Given the description of an element on the screen output the (x, y) to click on. 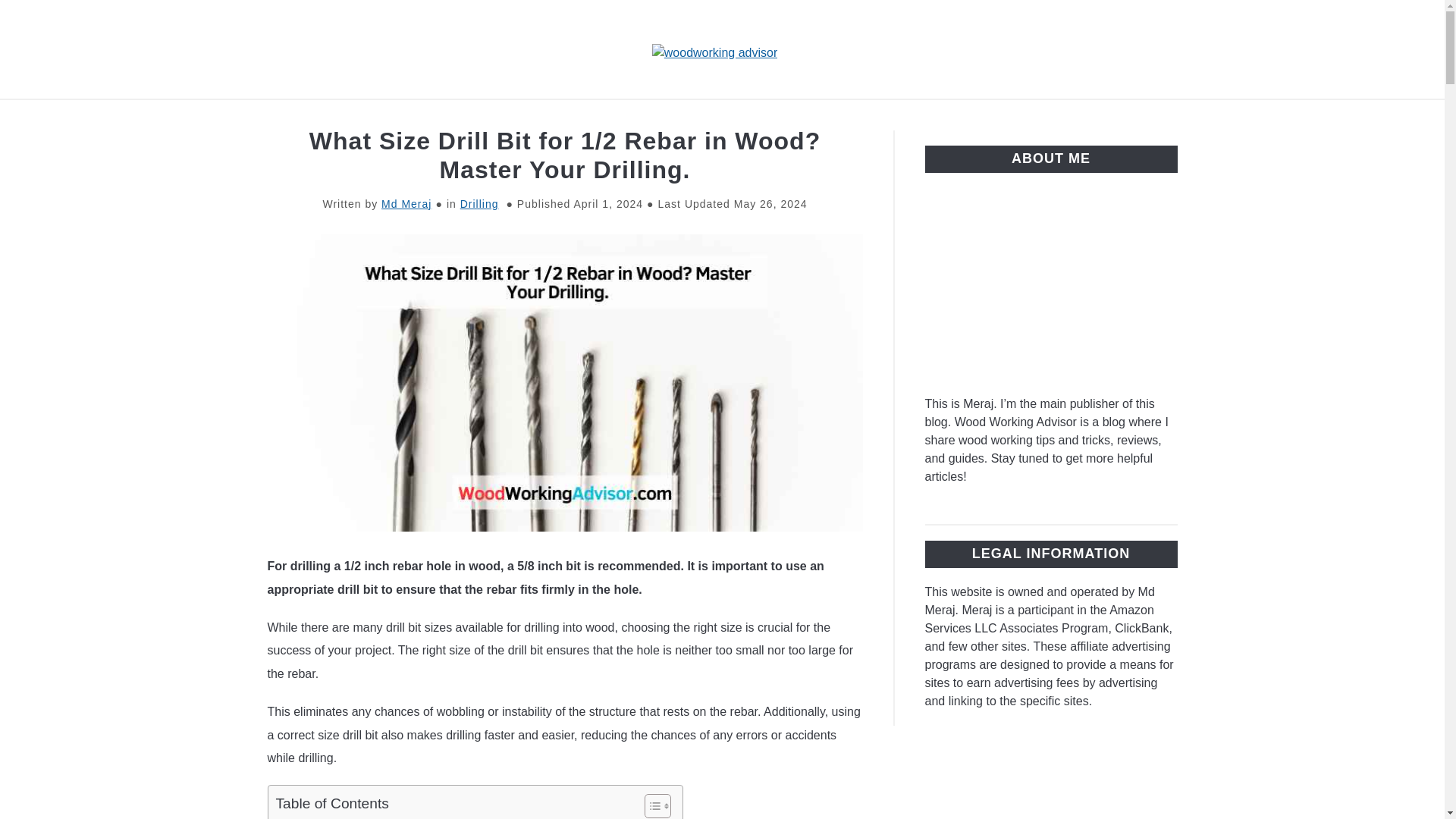
TYPES OF WOOD (328, 117)
Search (1203, 49)
CALCULATORS (907, 117)
WOODWORKING TIPS (491, 117)
WOODWORKING PROJECTS (1082, 117)
WOODWORKING SAWS (748, 117)
WOOD (616, 117)
